Given the description of an element on the screen output the (x, y) to click on. 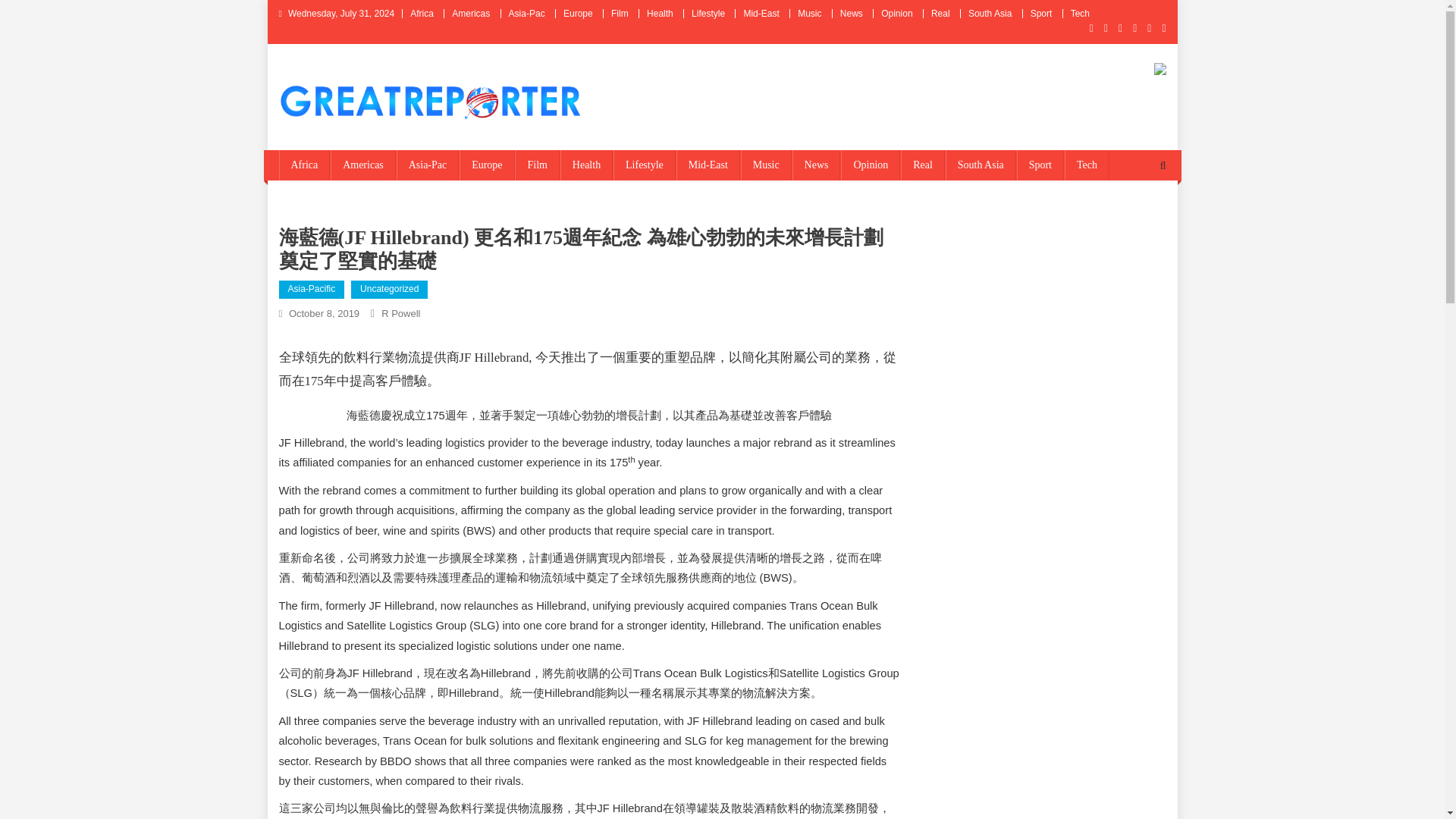
Real (922, 164)
Europe (486, 164)
Asia-Pac (526, 13)
Mid-East (760, 13)
South Asia (980, 164)
Americas (470, 13)
Americas (363, 164)
Opinion (896, 13)
Africa (421, 13)
Africa (304, 164)
Film (619, 13)
Europe (577, 13)
Real (940, 13)
Health (586, 164)
South Asia (989, 13)
